Given the description of an element on the screen output the (x, y) to click on. 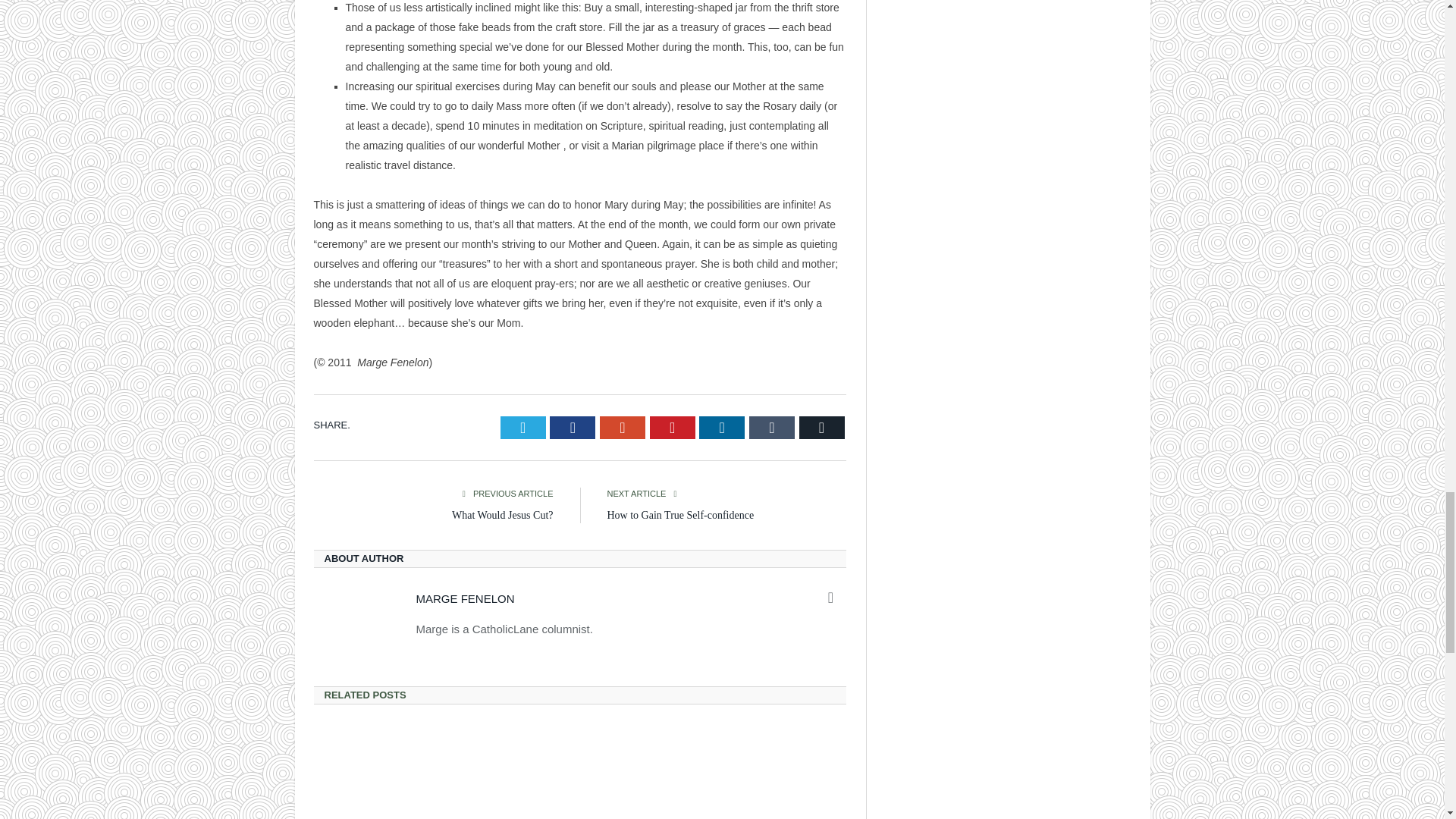
Website (831, 597)
Twitter (523, 427)
LinkedIn (721, 427)
Facebook (572, 427)
MARGE FENELON (463, 598)
Email (821, 427)
What Would Jesus Cut? (502, 514)
Pinterest (672, 427)
Tumblr (771, 427)
How to Gain True Self-confidence (680, 514)
